Given the description of an element on the screen output the (x, y) to click on. 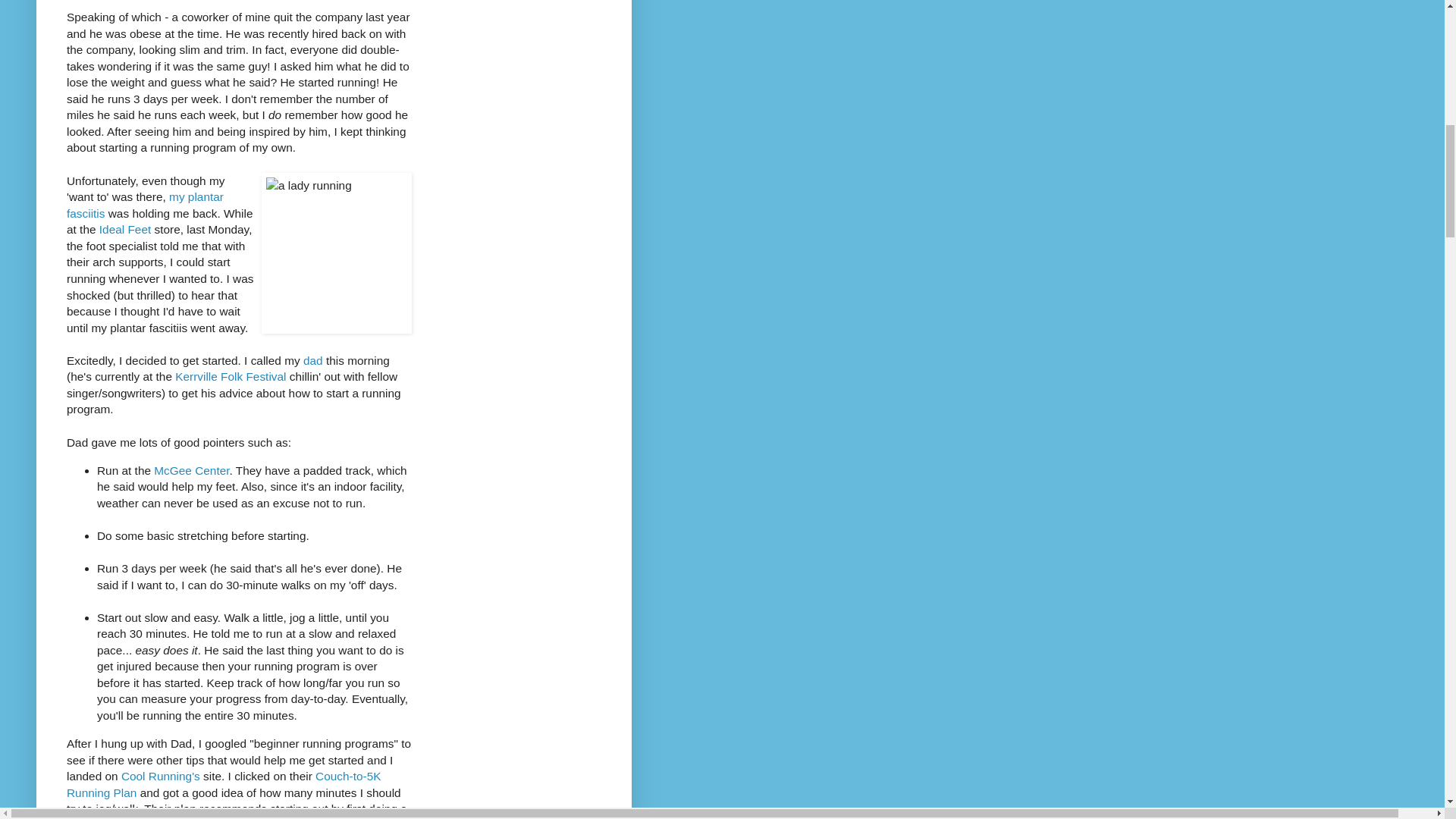
my plantar fasciitis (145, 205)
dad (312, 359)
Cool Running's (160, 775)
Ideal Feet (125, 228)
McGee Center (191, 470)
Couch-to-5K Running Plan (223, 784)
Kerrville Folk Festival (229, 376)
